Given the description of an element on the screen output the (x, y) to click on. 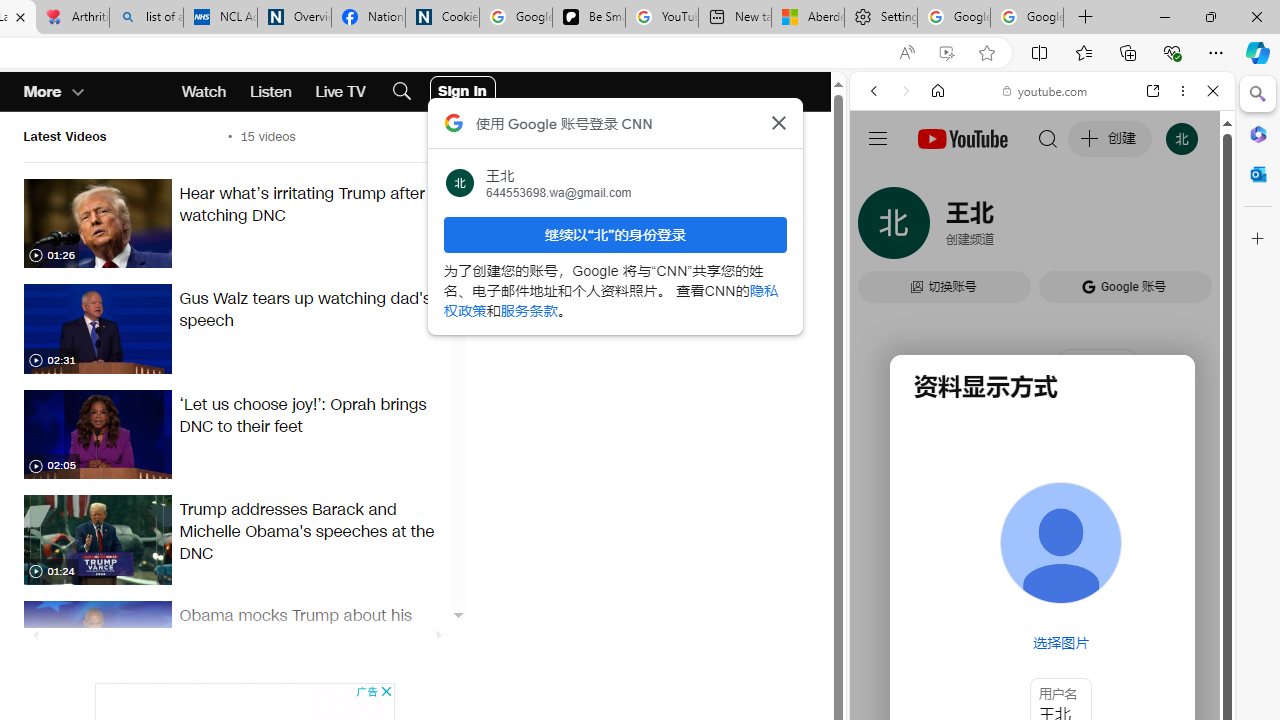
Google (947, 584)
User Account Log In Button (462, 92)
Search videos from youtube.com (1005, 657)
still_20889475_5694453.926_still.jpg (97, 328)
